Given the description of an element on the screen output the (x, y) to click on. 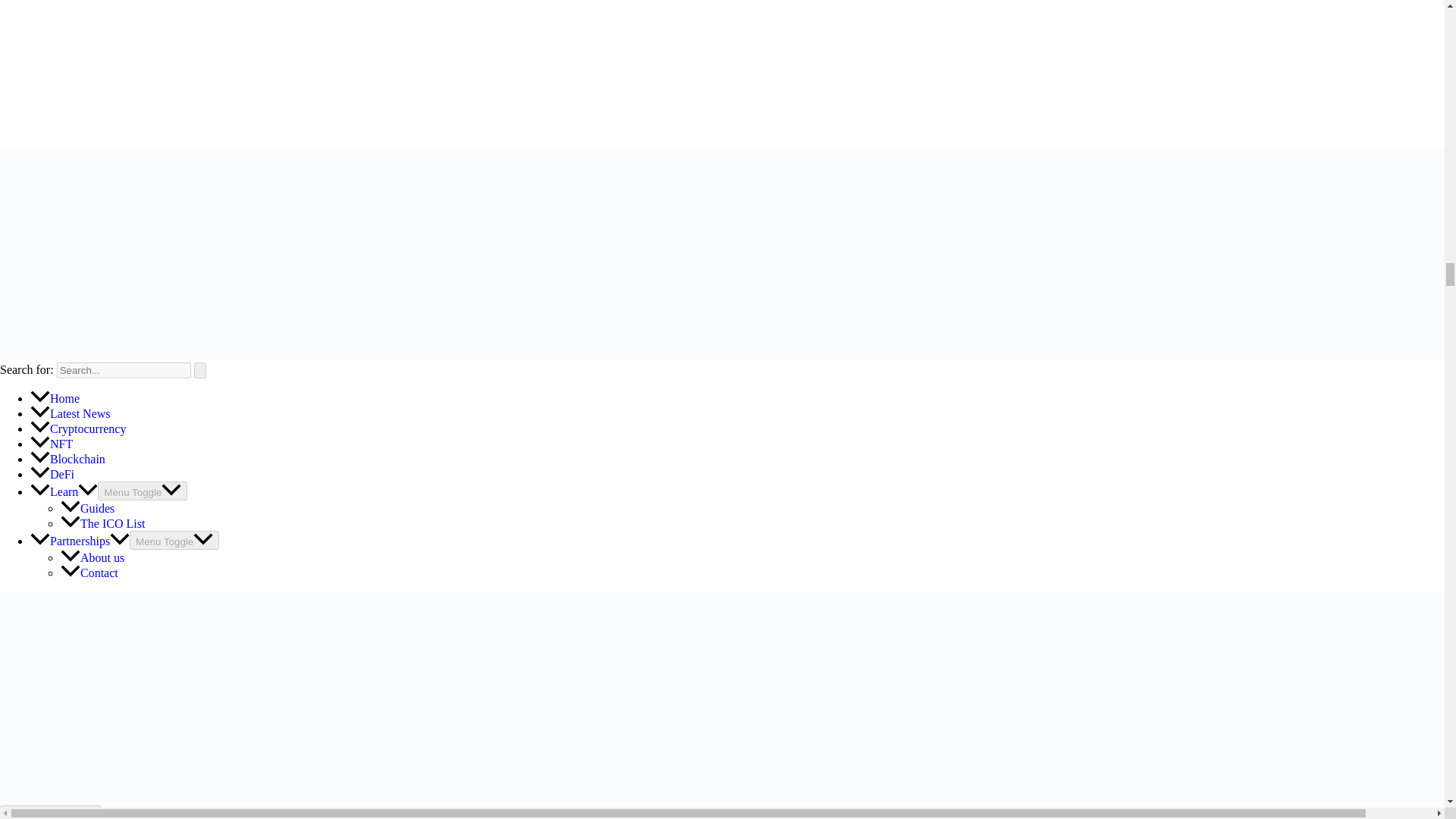
About us (92, 557)
Blockchain (67, 459)
Guides (88, 508)
Contact (89, 572)
Menu Toggle (142, 490)
Cryptocurrency (77, 428)
Main Menu (50, 812)
Partnerships (79, 540)
The ICO List (102, 522)
Menu Toggle (174, 539)
DeFi (52, 473)
Latest News (70, 413)
NFT (51, 443)
Learn (63, 491)
Home (55, 398)
